Given the description of an element on the screen output the (x, y) to click on. 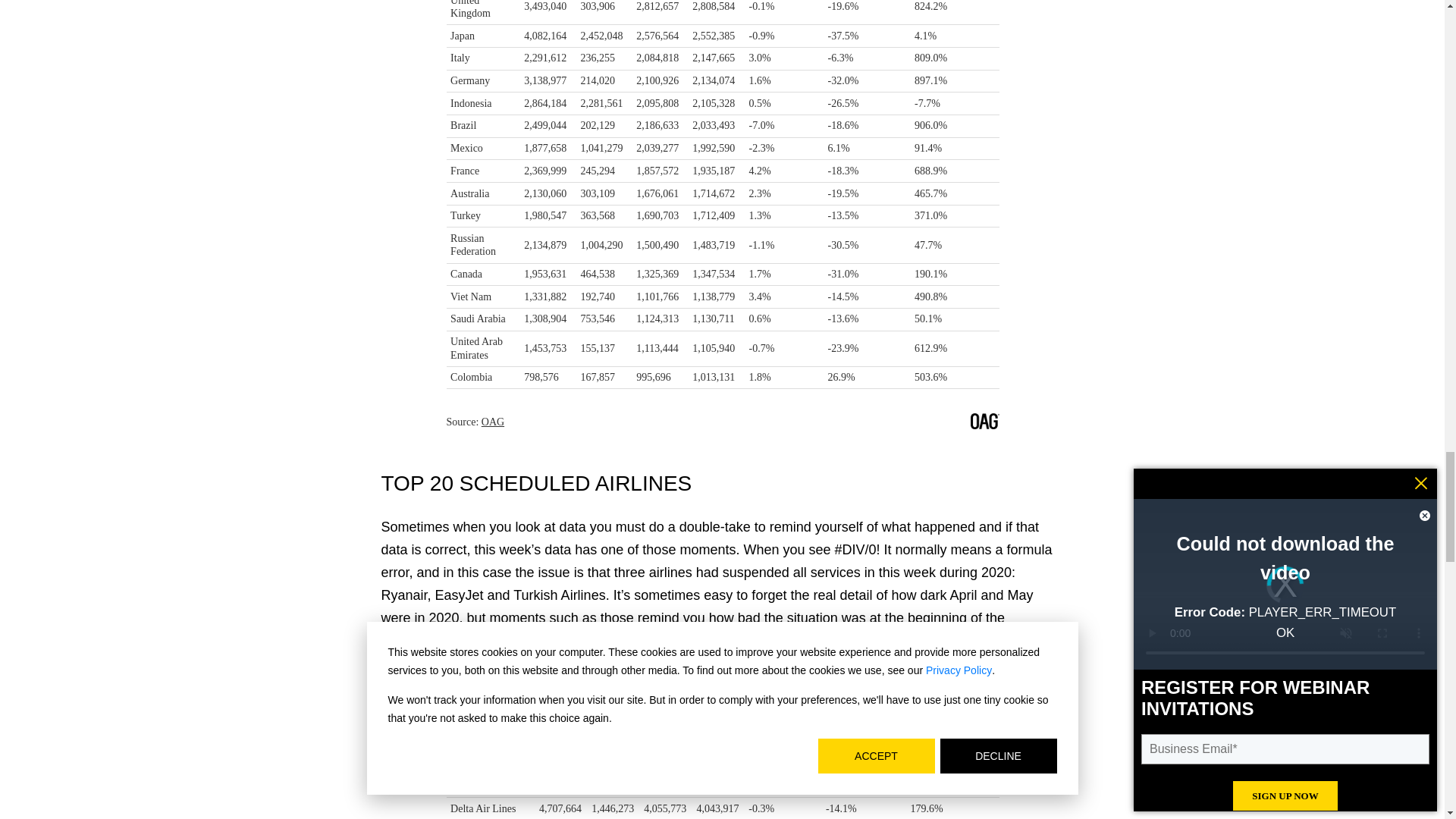
Interactive or visual content (722, 754)
